Given the description of an element on the screen output the (x, y) to click on. 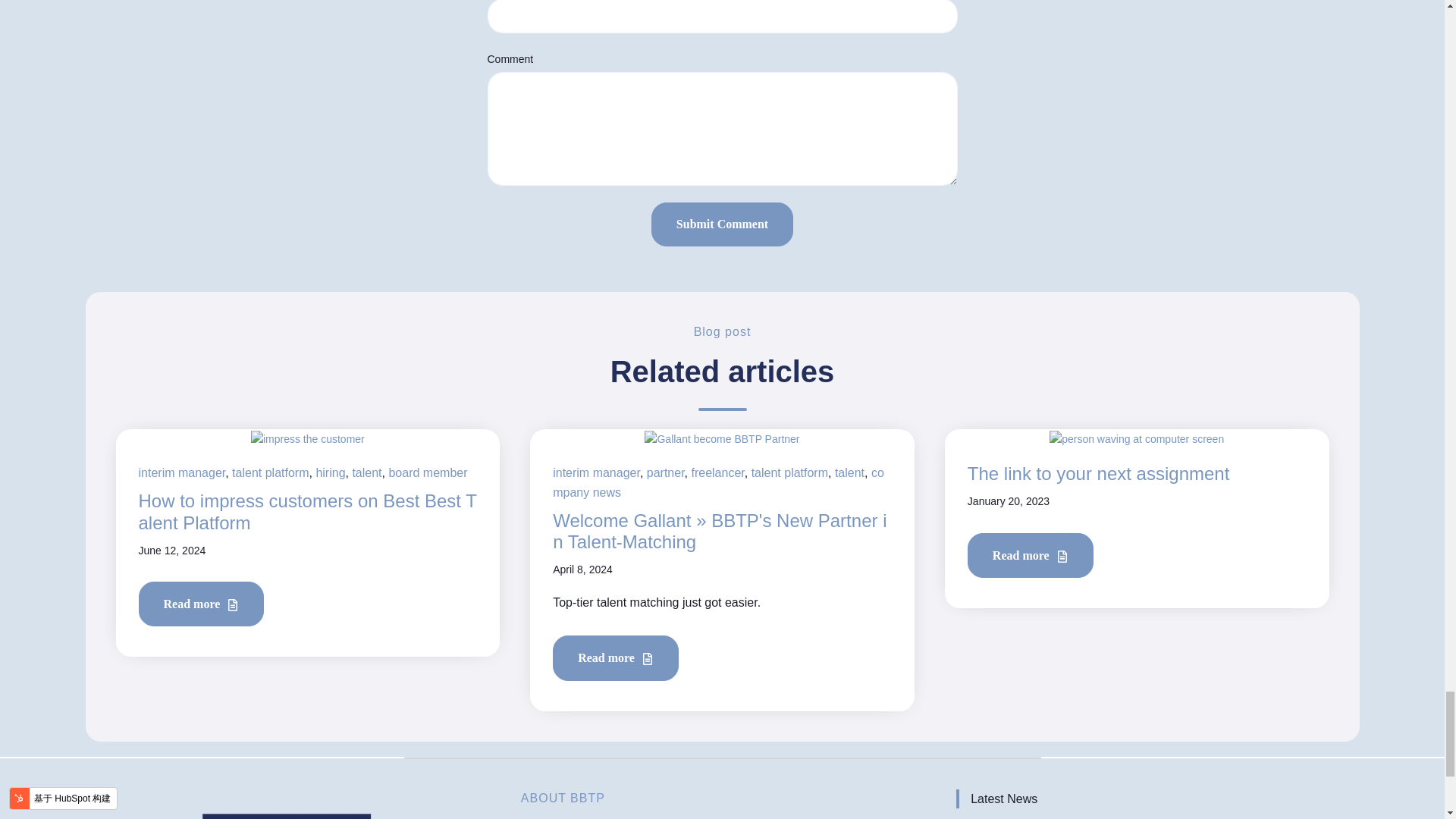
Submit Comment (721, 224)
company news (718, 482)
Read more (615, 657)
hiring (330, 472)
talent platform (269, 472)
Submit Comment (721, 224)
The link to your next assignment (1099, 473)
board member (427, 472)
interim manager (596, 472)
